Given the description of an element on the screen output the (x, y) to click on. 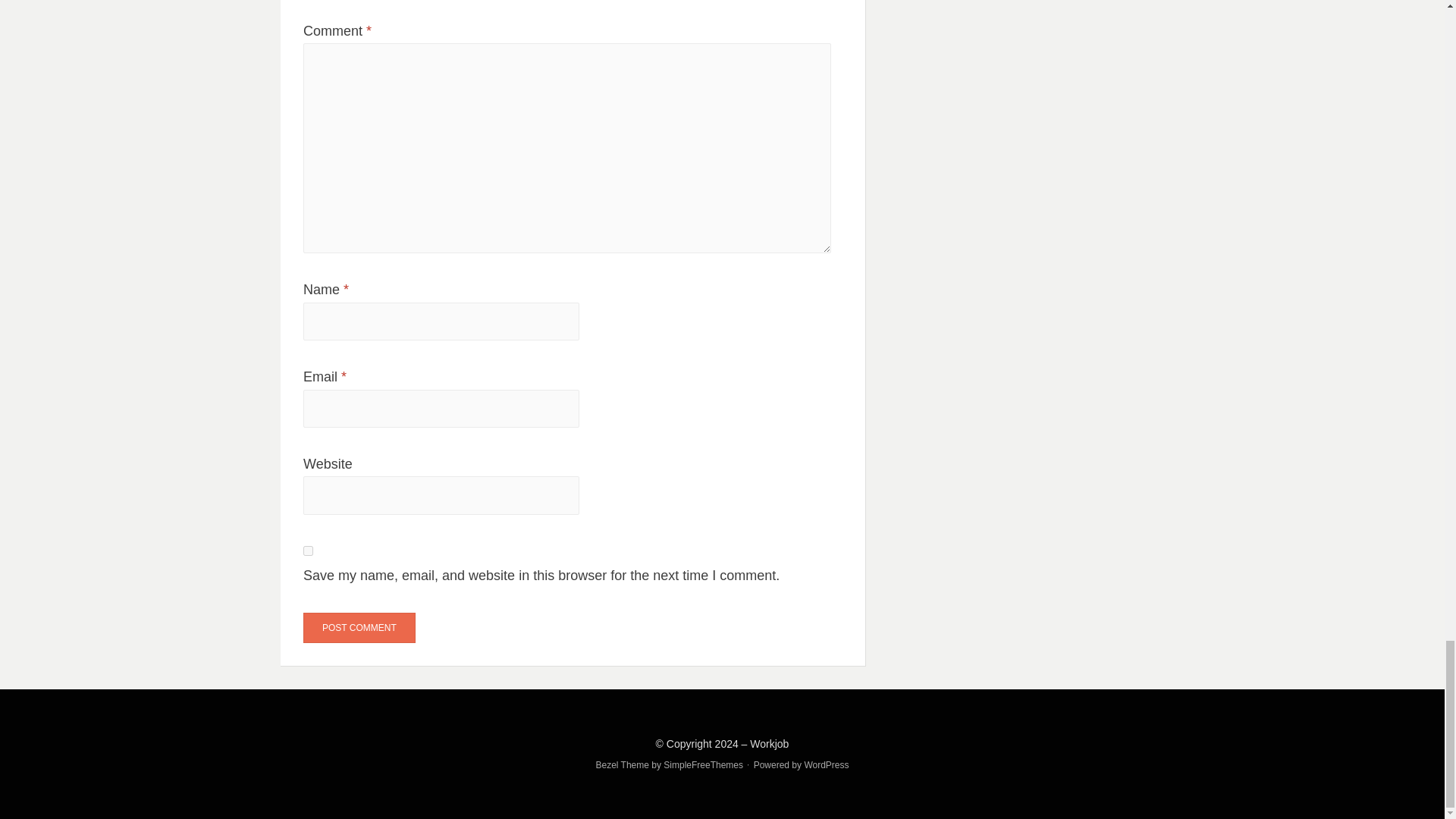
yes (307, 551)
Post Comment (358, 627)
Post Comment (358, 627)
SimpleFreeThemes (702, 765)
WordPress (825, 765)
